Given the description of an element on the screen output the (x, y) to click on. 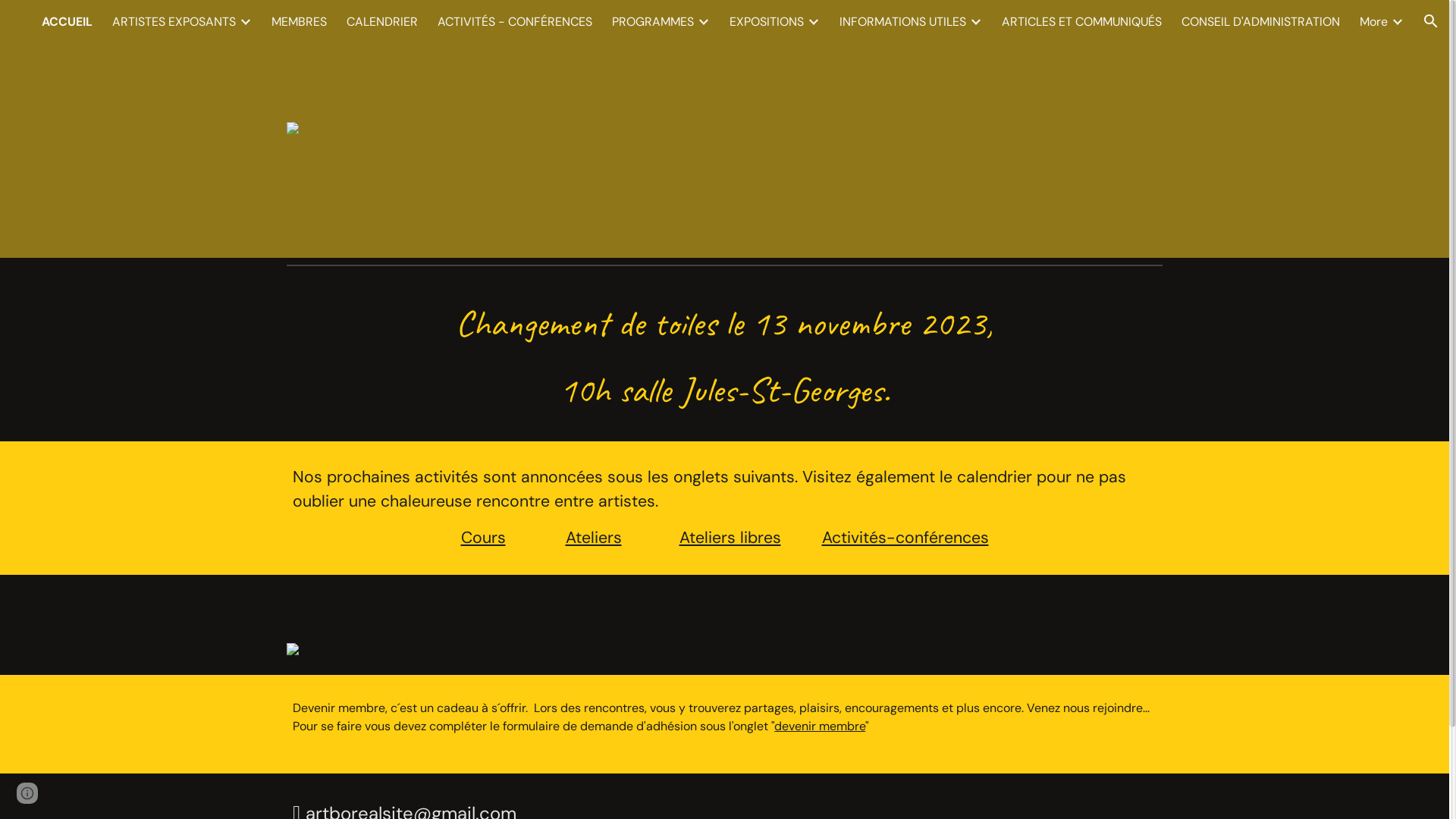
PROGRAMMES Element type: text (652, 21)
Cours  Element type: text (497, 538)
More Element type: text (1373, 21)
ARTISTES EXPOSANTS Element type: text (173, 21)
EXPOSITIONS Element type: text (766, 21)
CALENDRIER Element type: text (381, 21)
Expand/Collapse Element type: hover (244, 21)
devenir membre Element type: text (819, 726)
INFORMATIONS UTILES Element type: text (902, 21)
Expand/Collapse Element type: hover (975, 21)
Ateliers  Element type: text (604, 538)
Expand/Collapse Element type: hover (812, 21)
Ateliers libres Element type: text (730, 538)
Expand/Collapse Element type: hover (702, 21)
CONSEIL D'ADMINISTRATION Element type: text (1260, 21)
Expand/Collapse Element type: hover (1396, 21)
MEMBRES Element type: text (298, 21)
ACCUEIL Element type: text (66, 21)
